Given the description of an element on the screen output the (x, y) to click on. 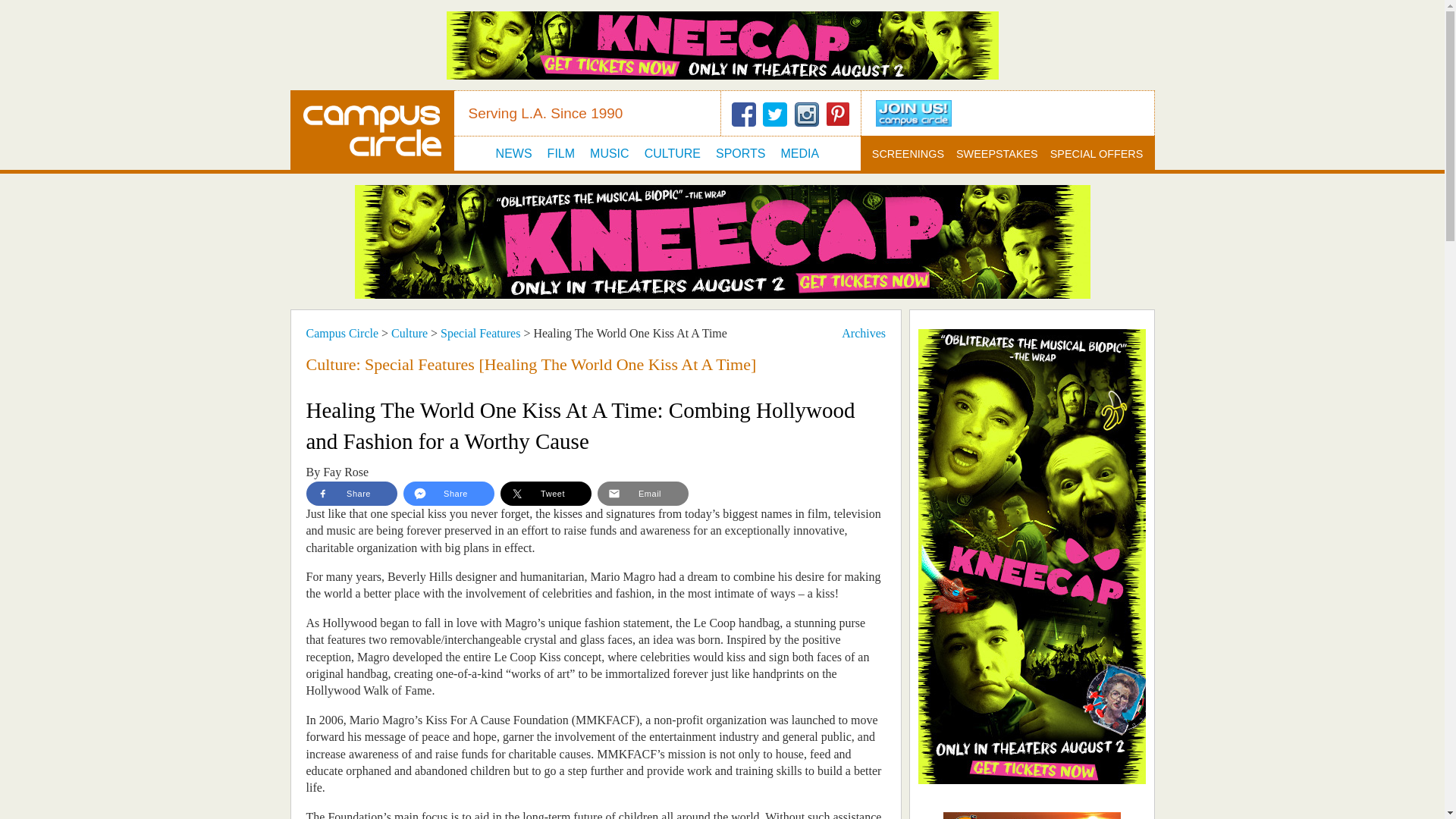
NEWS (514, 153)
CULTURE (672, 153)
MUSIC (608, 153)
SPORTS (740, 153)
